Given the description of an element on the screen output the (x, y) to click on. 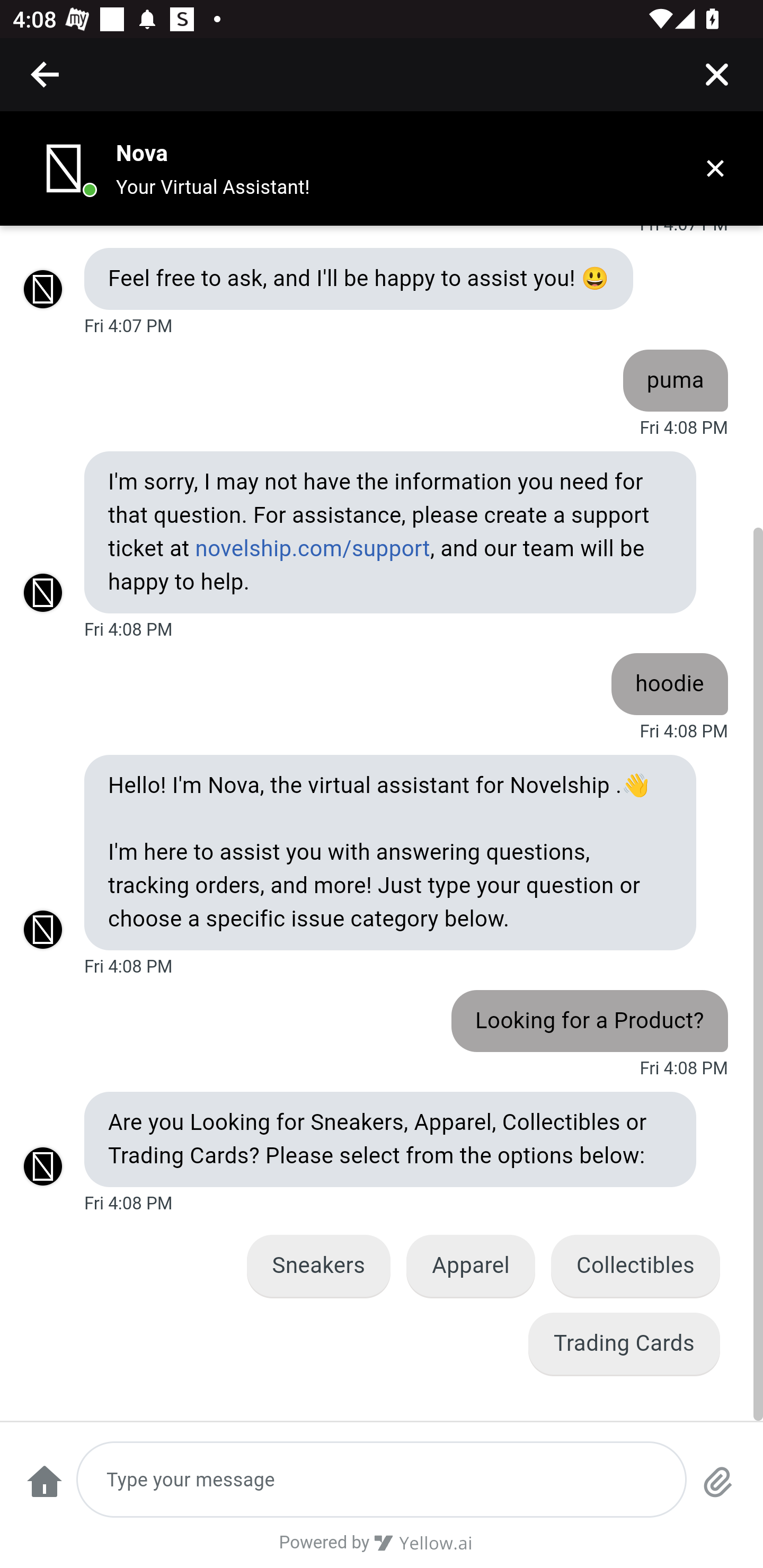
 (46, 74)
 (716, 74)
Nova bot icon (63, 168)
close bot (715, 168)
novelship.com/support (312, 549)
Sneakers (318, 1265)
Apparel (470, 1265)
Collectibles (635, 1265)
Trading Cards (623, 1343)
restart conversation (44, 1489)
upload file (718, 1489)
Powered by (381, 1549)
